Given the description of an element on the screen output the (x, y) to click on. 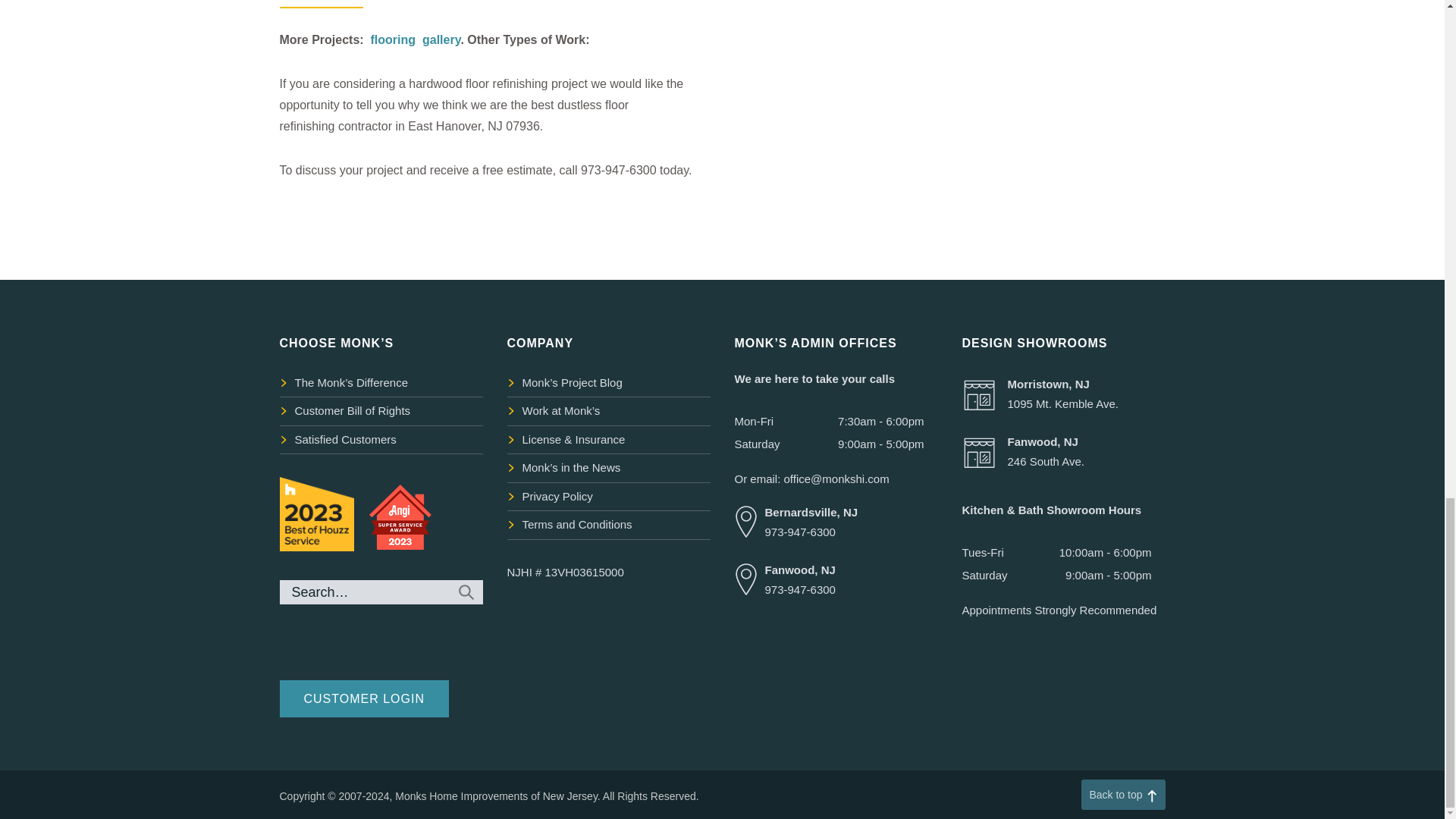
Search for (380, 591)
